Given the description of an element on the screen output the (x, y) to click on. 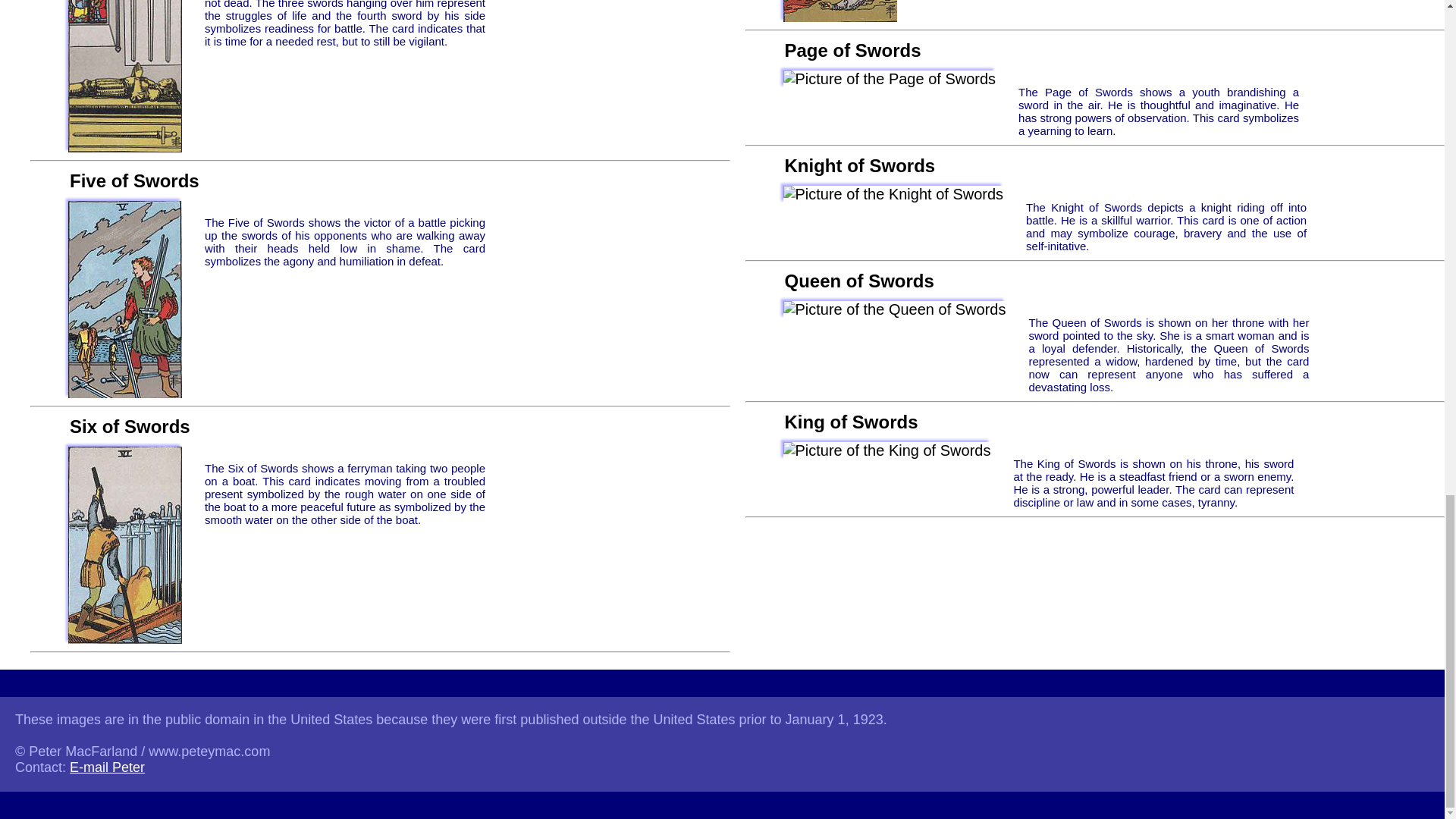
E-mail Peter (106, 767)
